Given the description of an element on the screen output the (x, y) to click on. 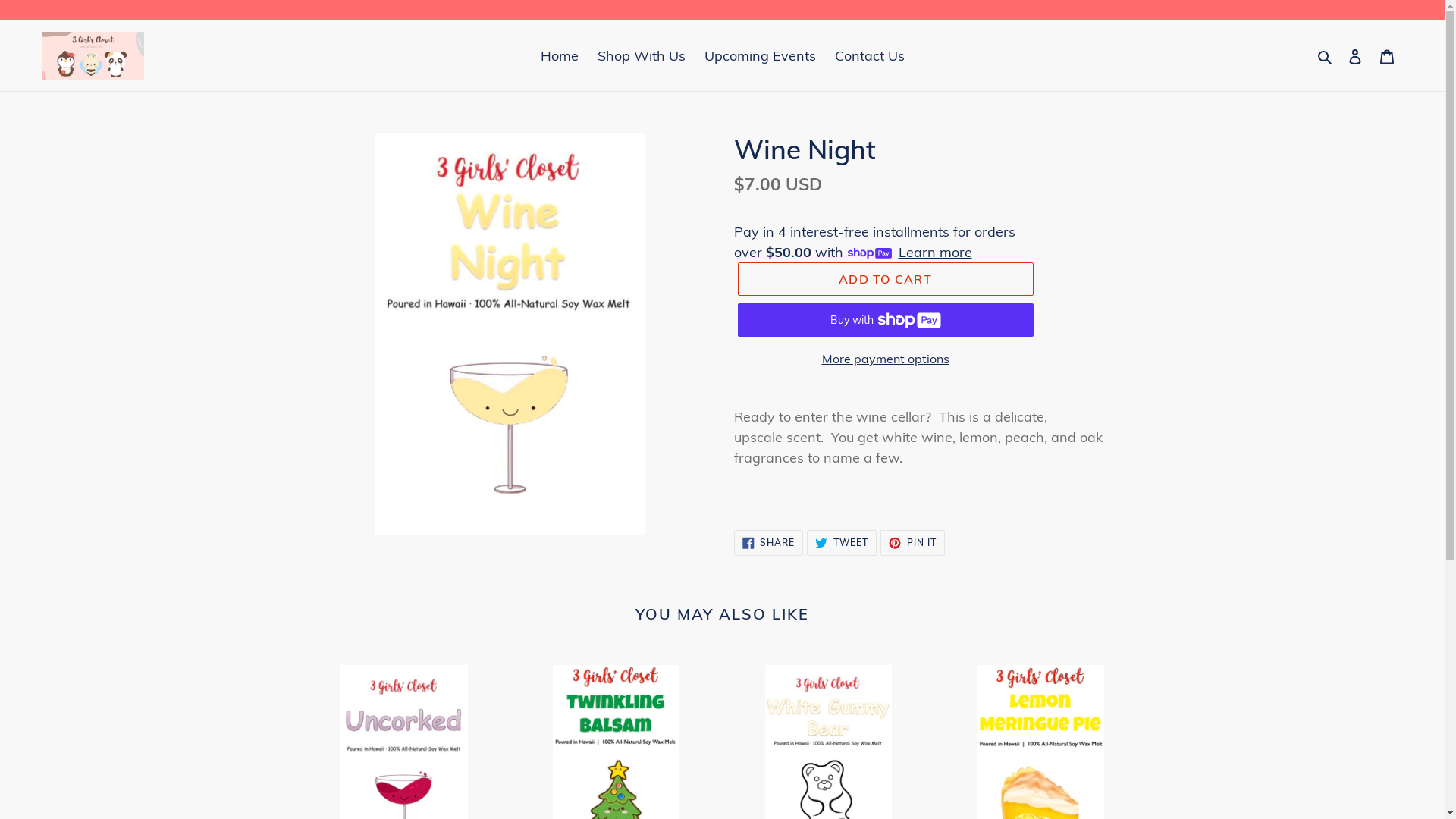
TWEET
TWEET ON TWITTER Element type: text (841, 542)
Shop With Us Element type: text (641, 55)
Cart Element type: text (1386, 55)
Contact Us Element type: text (868, 55)
Home Element type: text (558, 55)
PIN IT
PIN ON PINTEREST Element type: text (912, 542)
Search Element type: text (1325, 55)
SHARE
SHARE ON FACEBOOK Element type: text (768, 542)
ADD TO CART Element type: text (884, 278)
Log in Element type: text (1355, 55)
More payment options Element type: text (884, 358)
Upcoming Events Element type: text (759, 55)
